Given the description of an element on the screen output the (x, y) to click on. 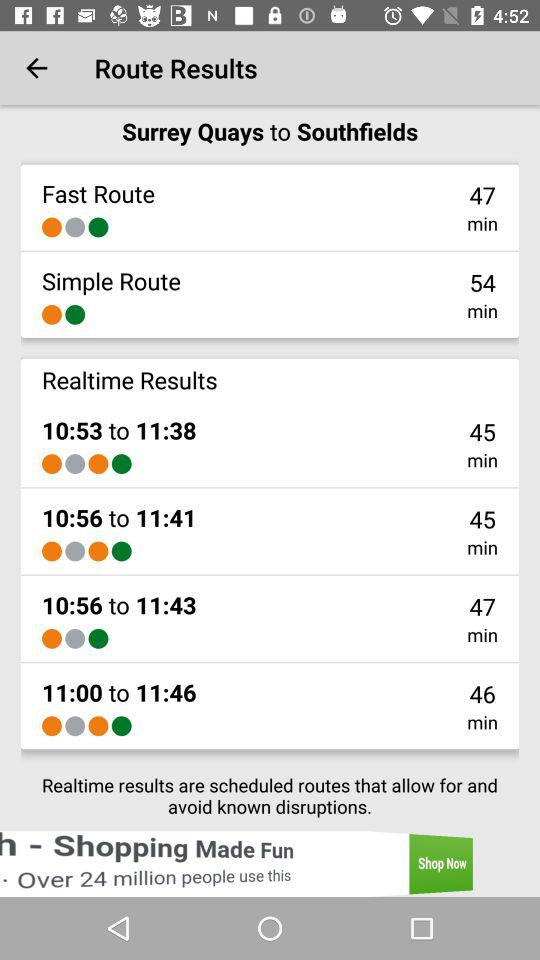
click item below 10 53 to item (121, 464)
